Given the description of an element on the screen output the (x, y) to click on. 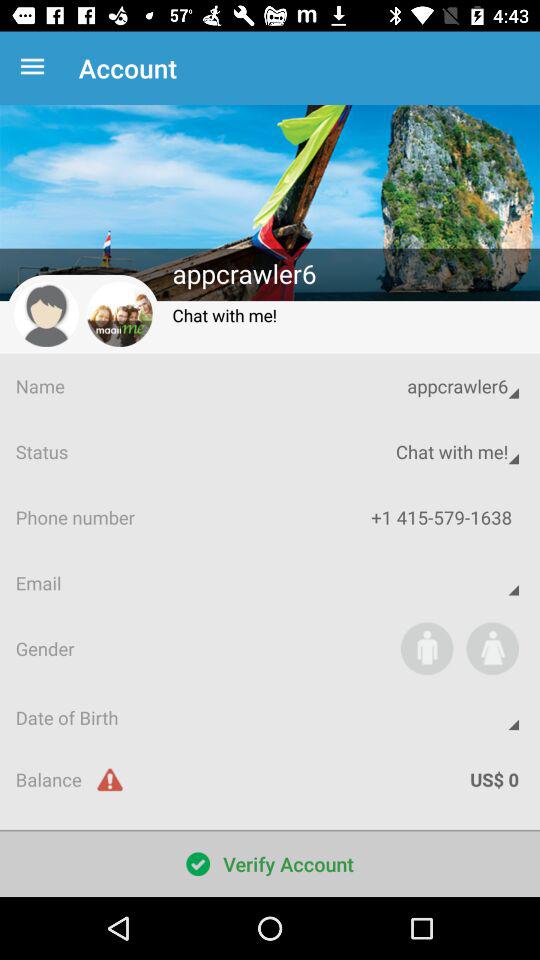
select app next to the gender app (426, 648)
